Given the description of an element on the screen output the (x, y) to click on. 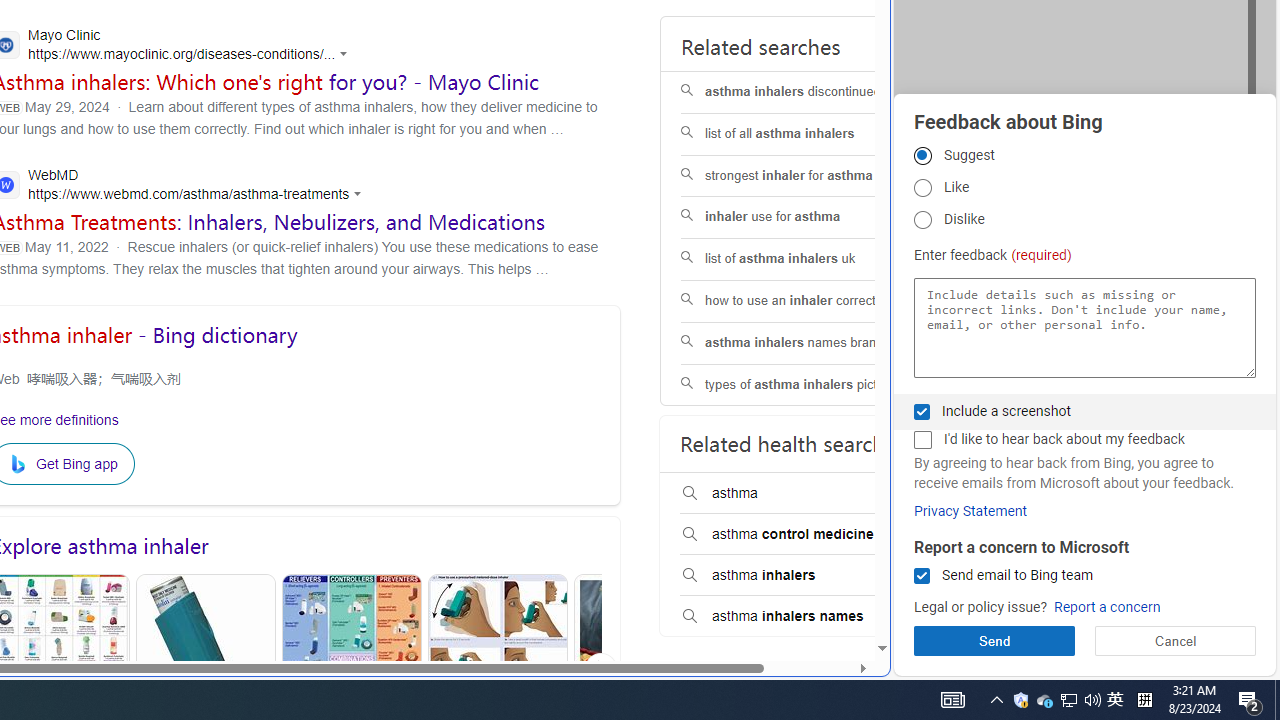
how to use an inhaler correctly (807, 300)
Privacy Statement (970, 511)
strongest inhaler for asthma (807, 176)
list of all asthma inhalers (807, 133)
AutomationID: mfa_root (806, 588)
asthma (807, 493)
Report a concern (1106, 607)
Include a screenshot (921, 411)
inhaler use for asthma (807, 218)
asthma inhalers names brands (807, 343)
asthma inhalers discontinued (807, 92)
asthma inhalers names (807, 616)
I'd like to hear back about my feedback (922, 440)
types of asthma inhalers pictures (807, 385)
list of asthma inhalers uk (807, 259)
